Given the description of an element on the screen output the (x, y) to click on. 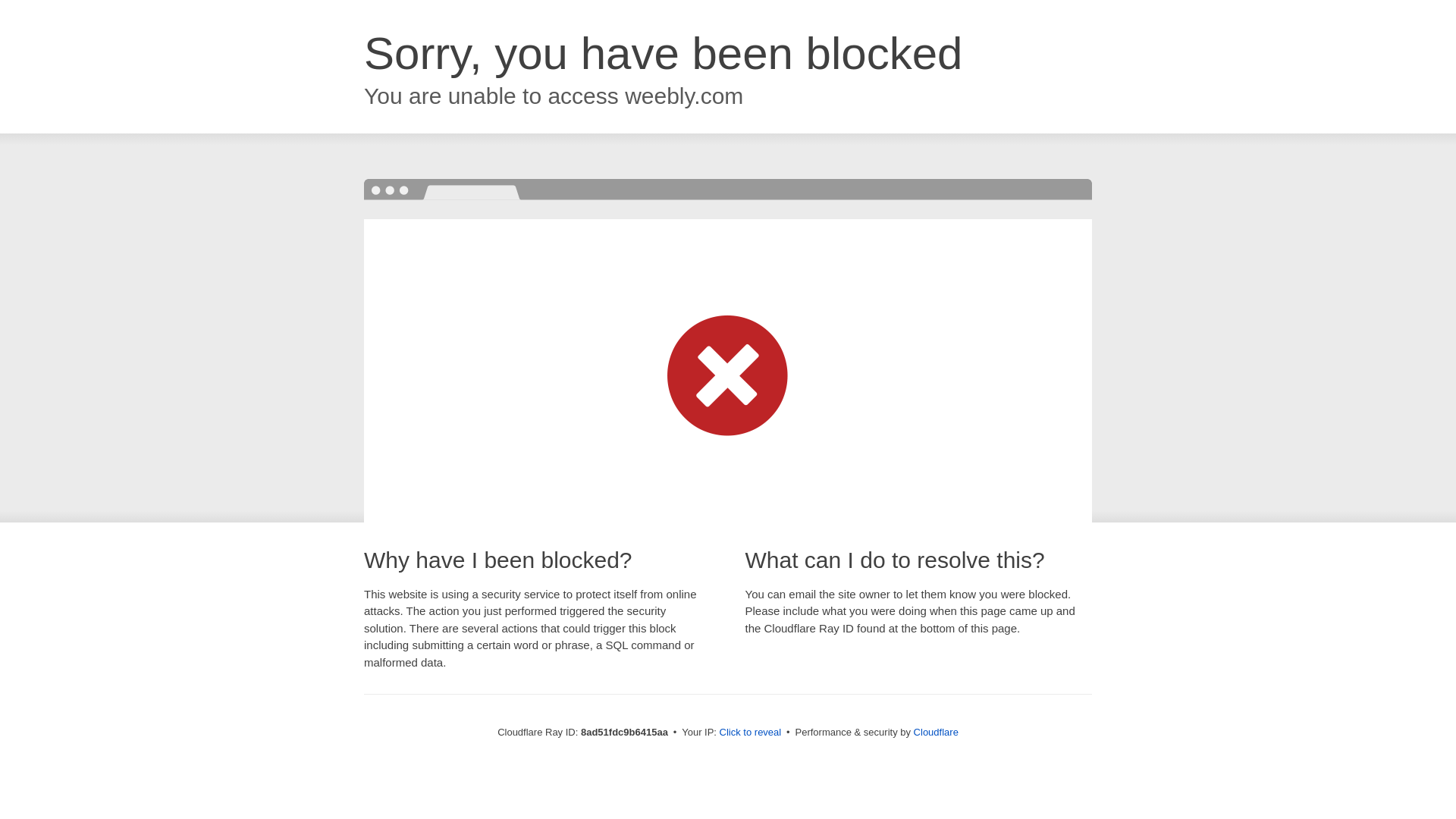
Cloudflare (936, 731)
Click to reveal (750, 732)
